Given the description of an element on the screen output the (x, y) to click on. 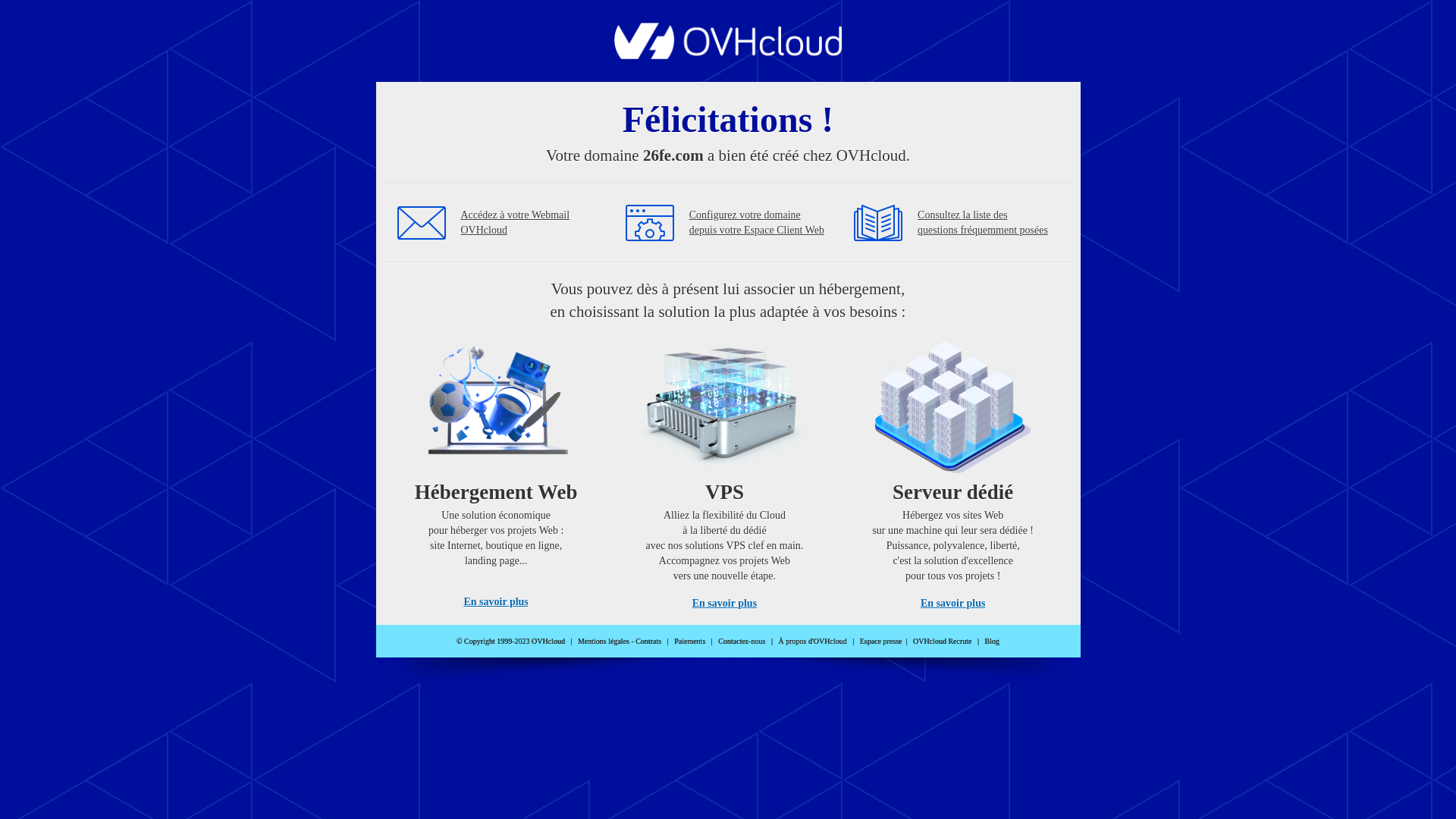
OVHcloud Recrute Element type: text (942, 641)
Blog Element type: text (992, 641)
Espace presse Element type: text (880, 641)
En savoir plus Element type: text (724, 602)
En savoir plus Element type: text (495, 601)
En savoir plus Element type: text (952, 602)
Configurez votre domaine
depuis votre Espace Client Web Element type: text (756, 222)
VPS Element type: hover (724, 469)
Contactez-nous Element type: text (741, 641)
OVHcloud Element type: hover (727, 54)
Paiements Element type: text (689, 641)
